Given the description of an element on the screen output the (x, y) to click on. 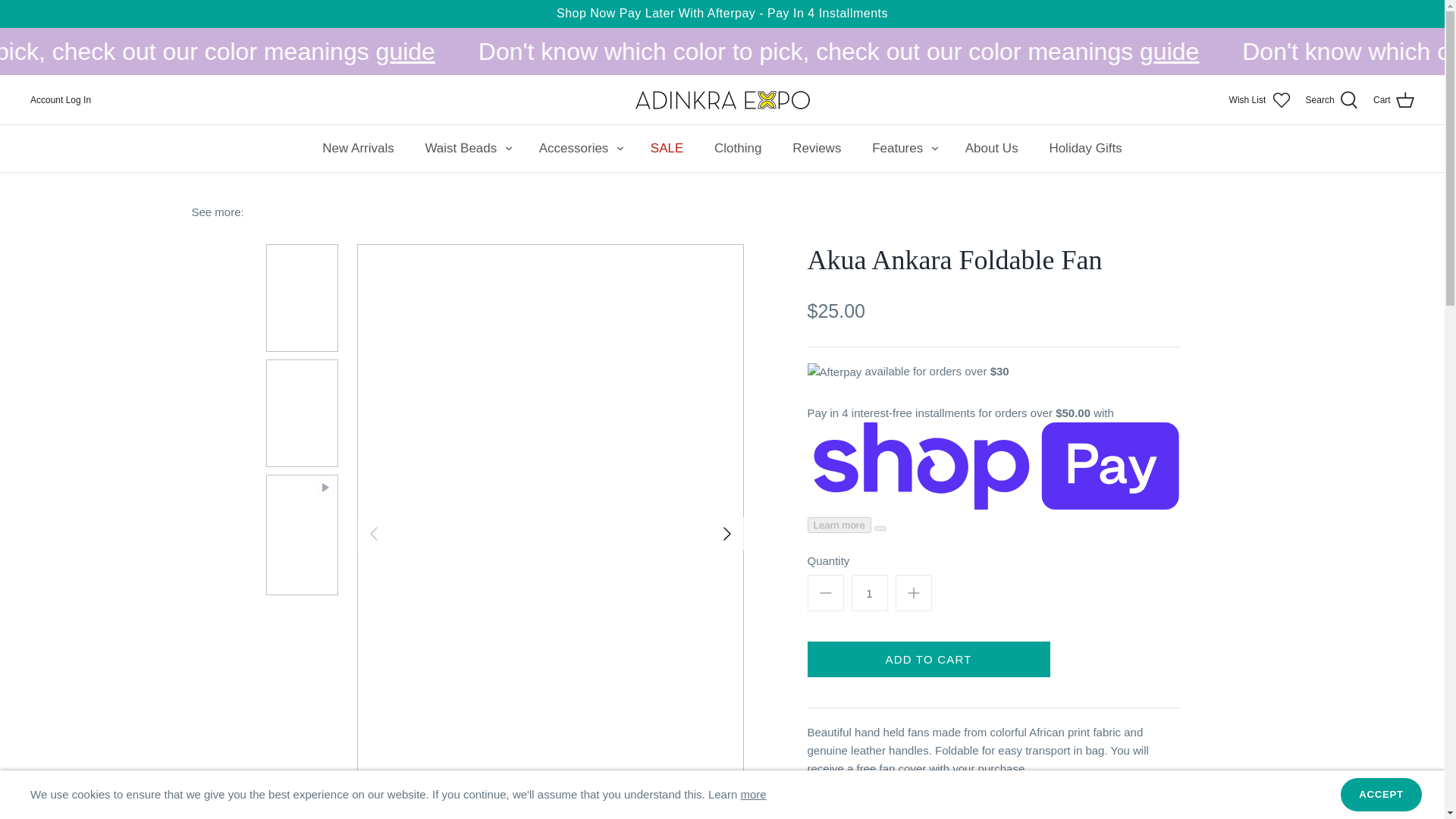
Cart (1393, 99)
Account Log In (60, 99)
Toggle menu (620, 148)
New Arrivals (357, 148)
Minus (824, 592)
Toggle menu (935, 148)
Waist Beads Color Meaning Guide (600, 51)
guide (673, 51)
Toggle menu (620, 147)
Toggle menu (508, 148)
Accessories (574, 148)
Wish List (1259, 99)
Adinkra Expo  (721, 99)
Search (1332, 99)
1 (868, 592)
